Given the description of an element on the screen output the (x, y) to click on. 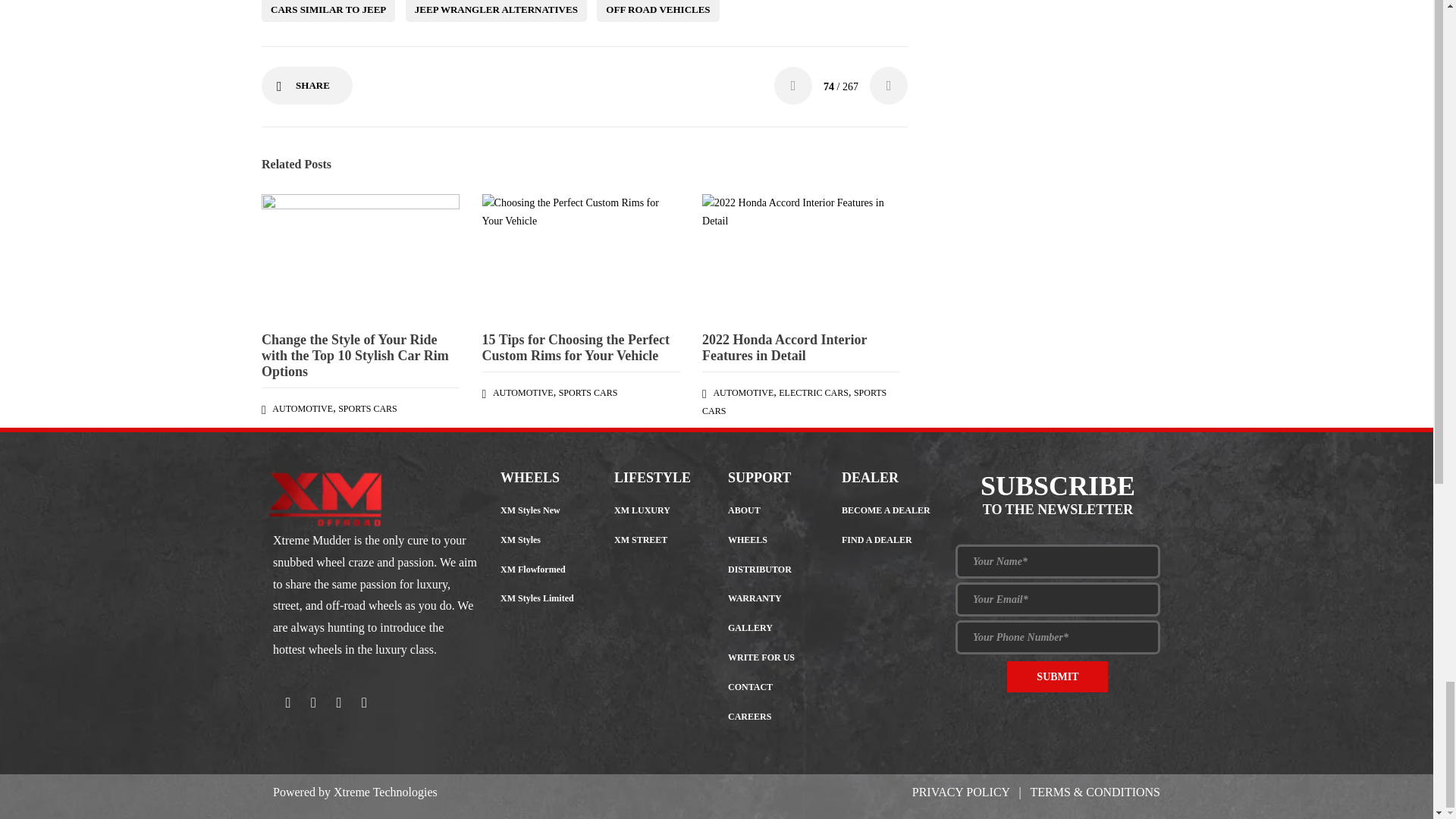
CARS SIMILAR TO JEEP (328, 11)
OFF ROAD VEHICLES (657, 11)
AUTOMOTIVE (523, 392)
SUBMIT (1057, 676)
SPORTS CARS (367, 408)
SPORTS CARS (588, 392)
AUTOMOTIVE (302, 408)
JEEP WRANGLER ALTERNATIVES (496, 11)
